Given the description of an element on the screen output the (x, y) to click on. 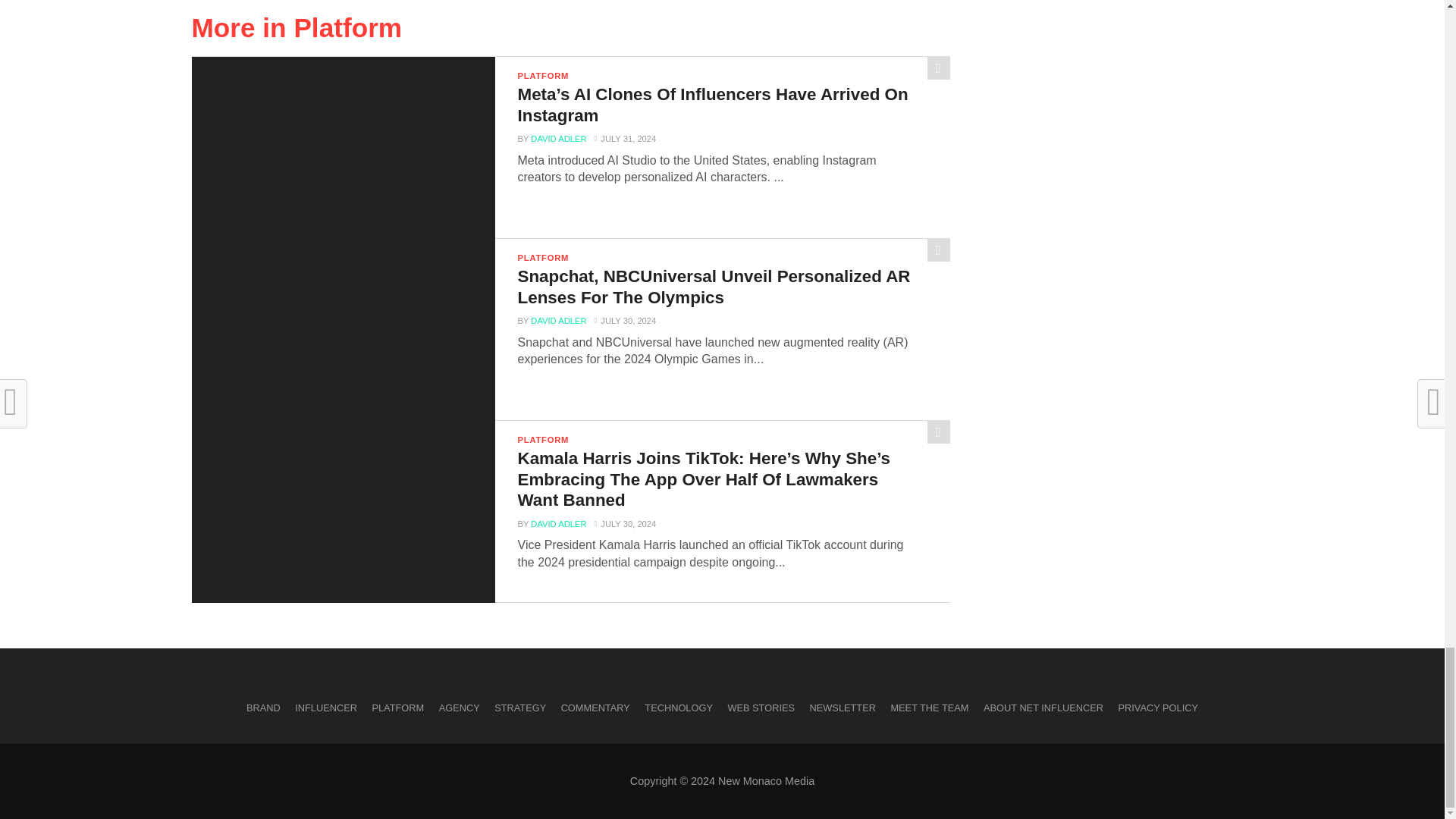
Posts by David Adler (558, 138)
Posts by David Adler (558, 320)
